Given the description of an element on the screen output the (x, y) to click on. 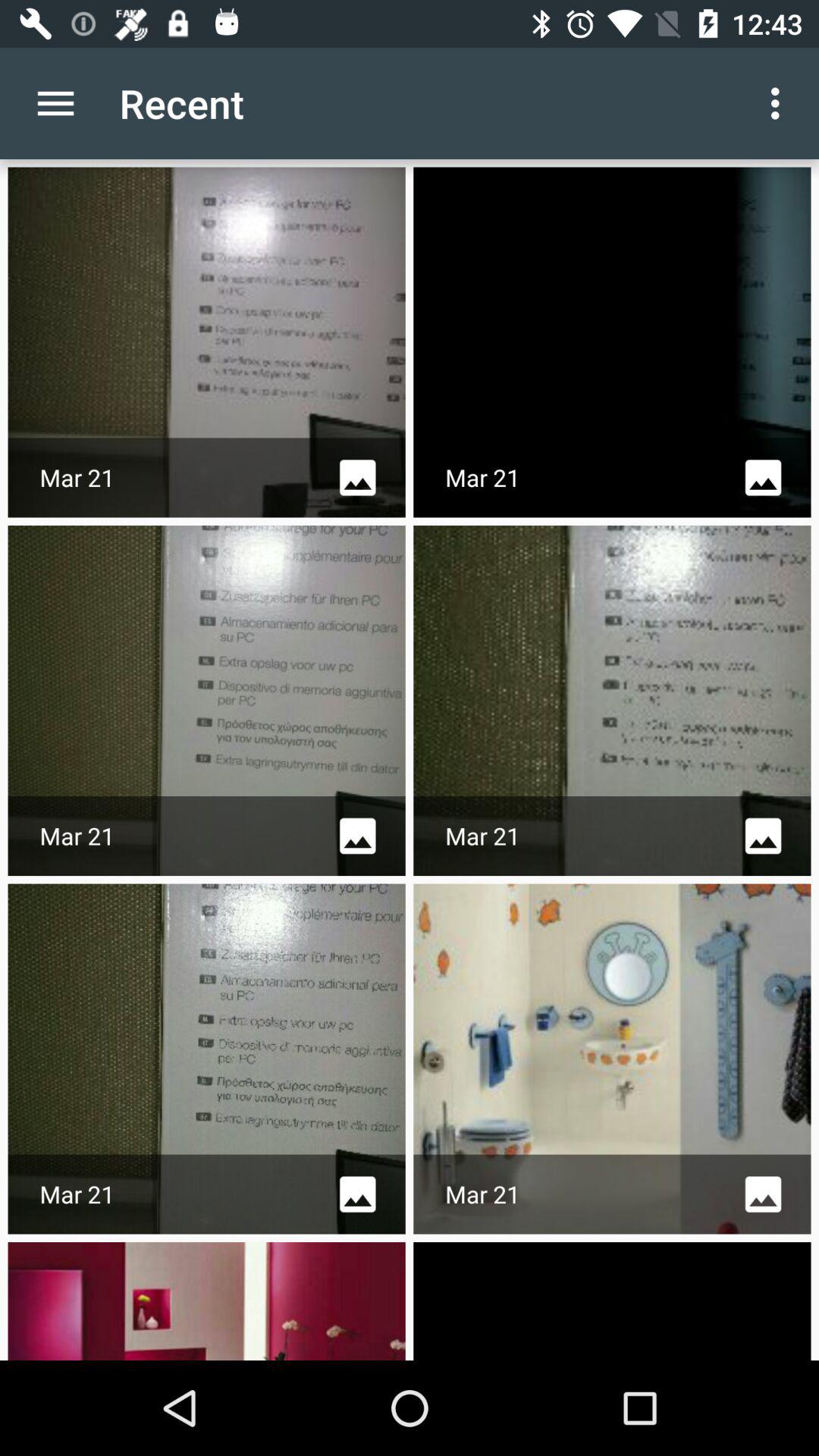
press the icon to the left of recent item (55, 103)
